Given the description of an element on the screen output the (x, y) to click on. 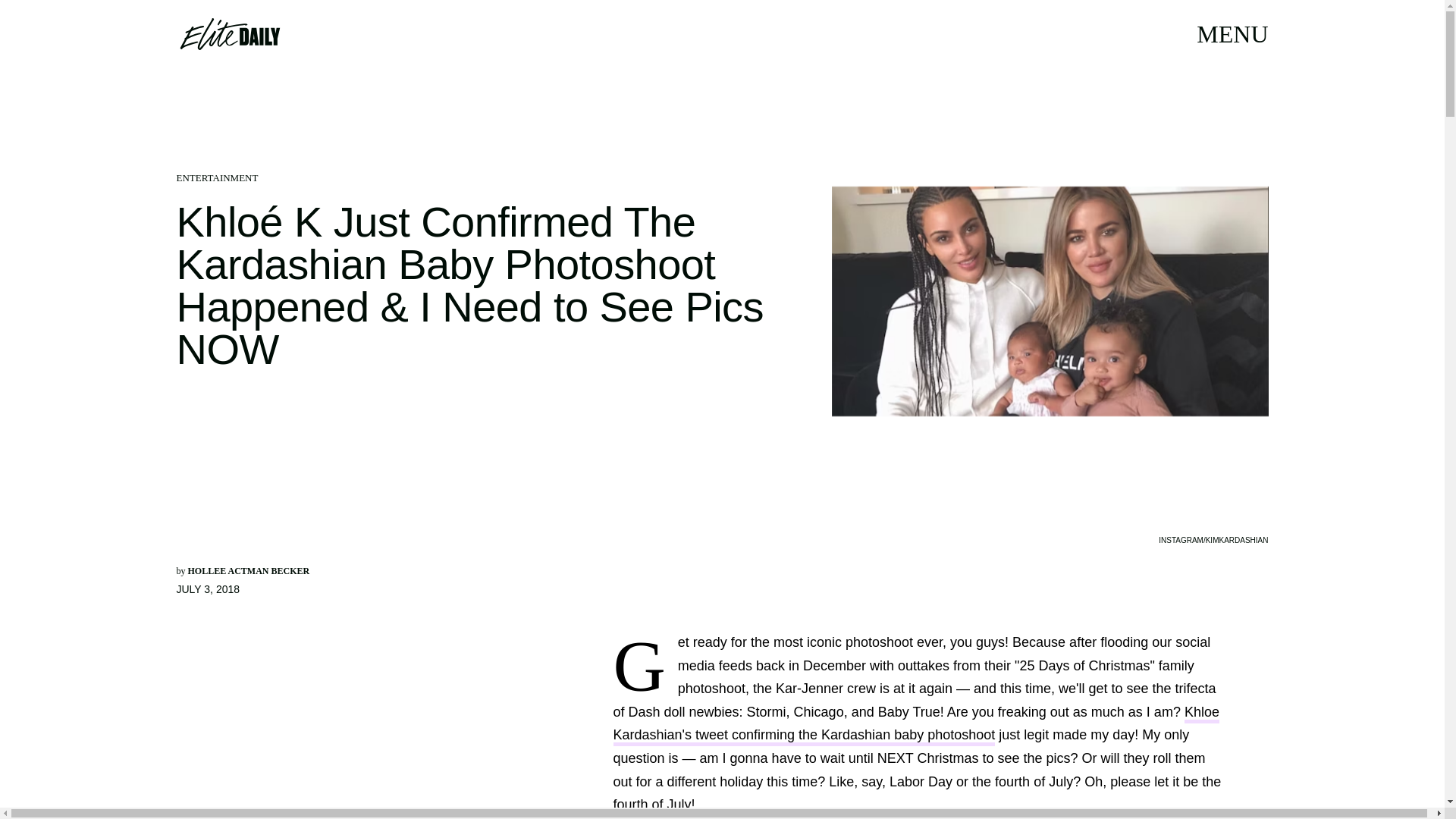
Elite Daily (229, 33)
